Given the description of an element on the screen output the (x, y) to click on. 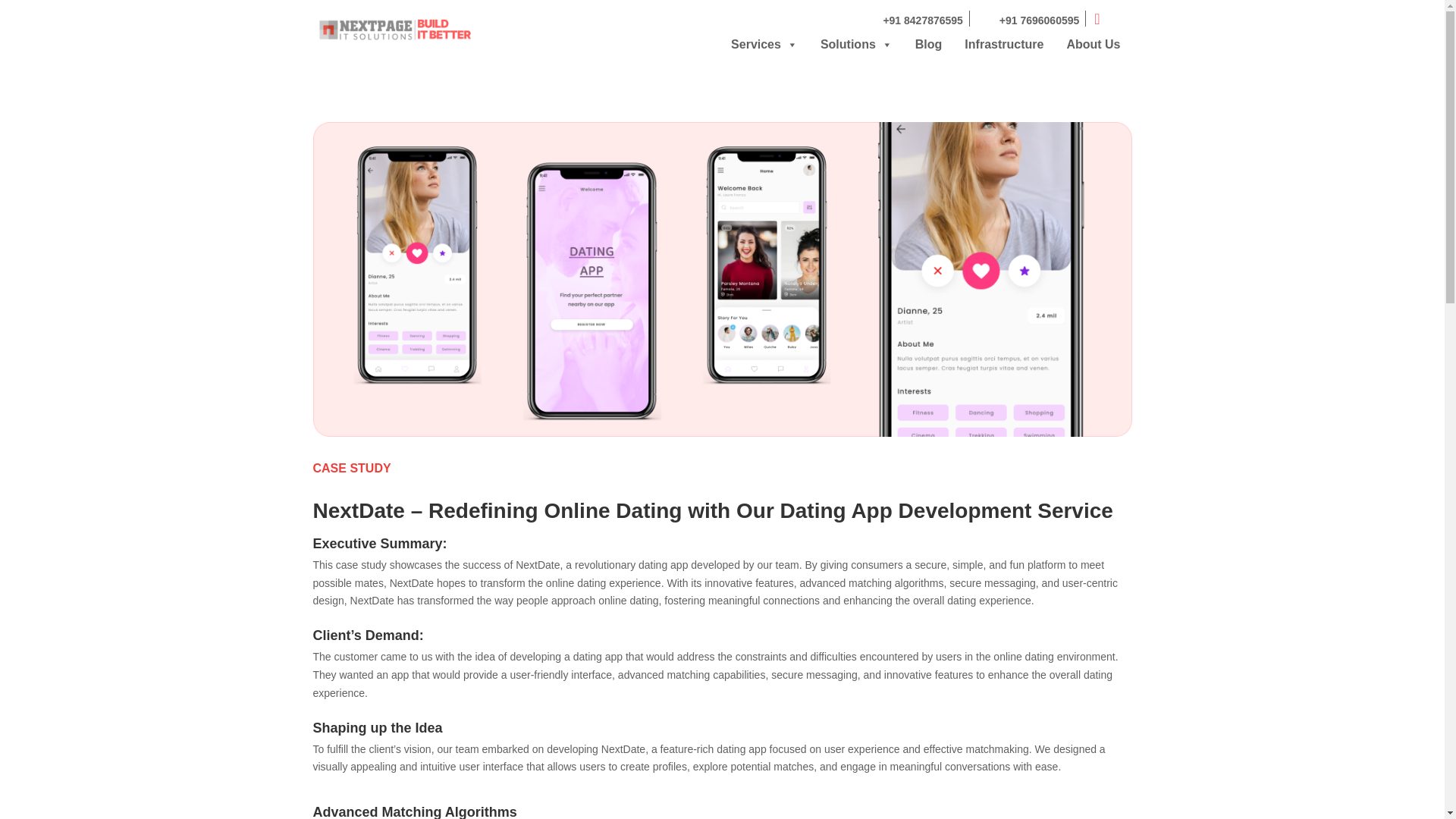
Blog (928, 44)
Services (764, 44)
Solutions (856, 44)
Infrastructure (1003, 44)
About Us (1092, 44)
